Given the description of an element on the screen output the (x, y) to click on. 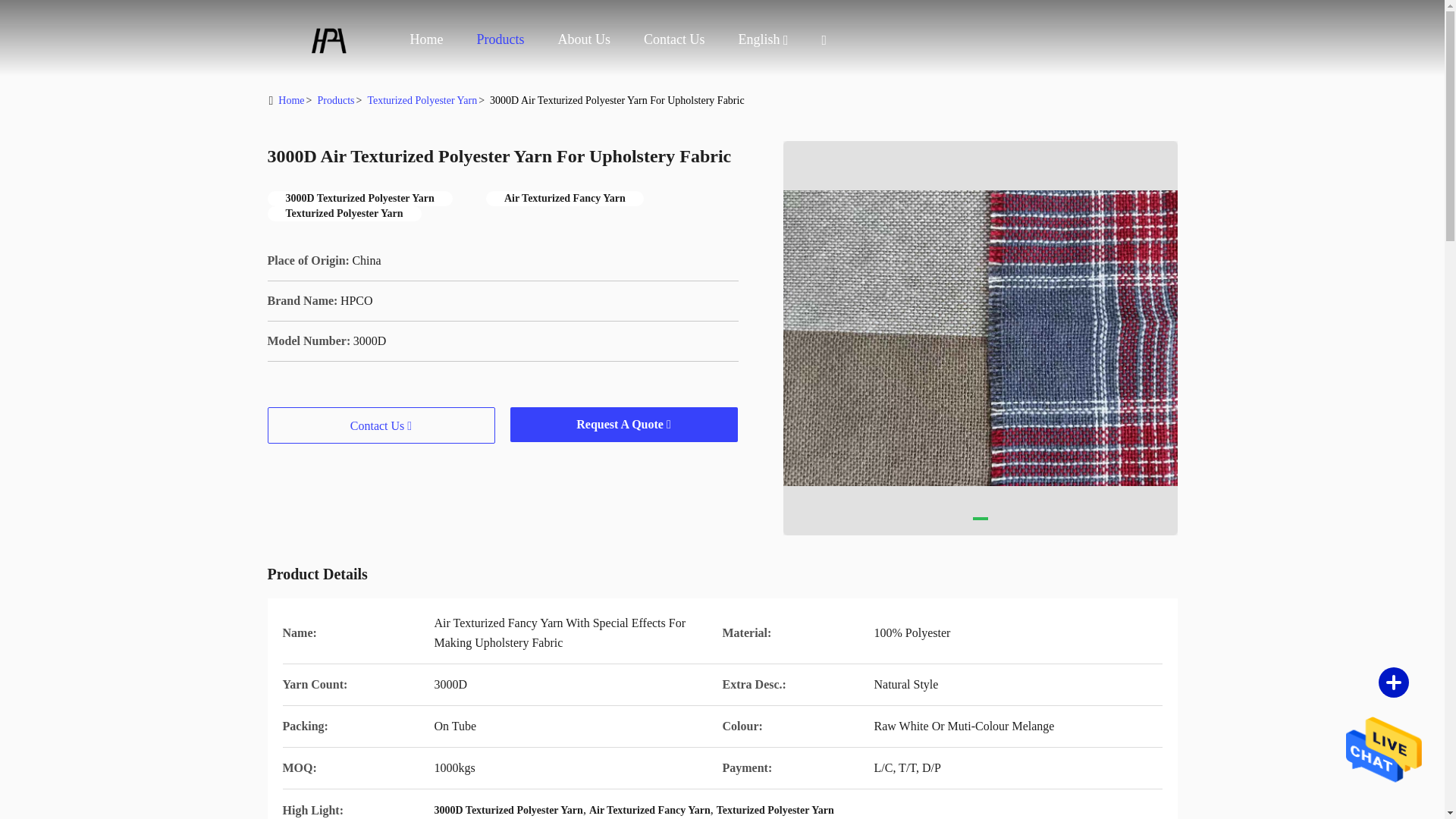
Products (335, 100)
Products (500, 39)
Home (327, 37)
Contact Us (673, 39)
Products (500, 39)
Home (291, 100)
About Us (584, 39)
About Us (584, 39)
